Given the description of an element on the screen output the (x, y) to click on. 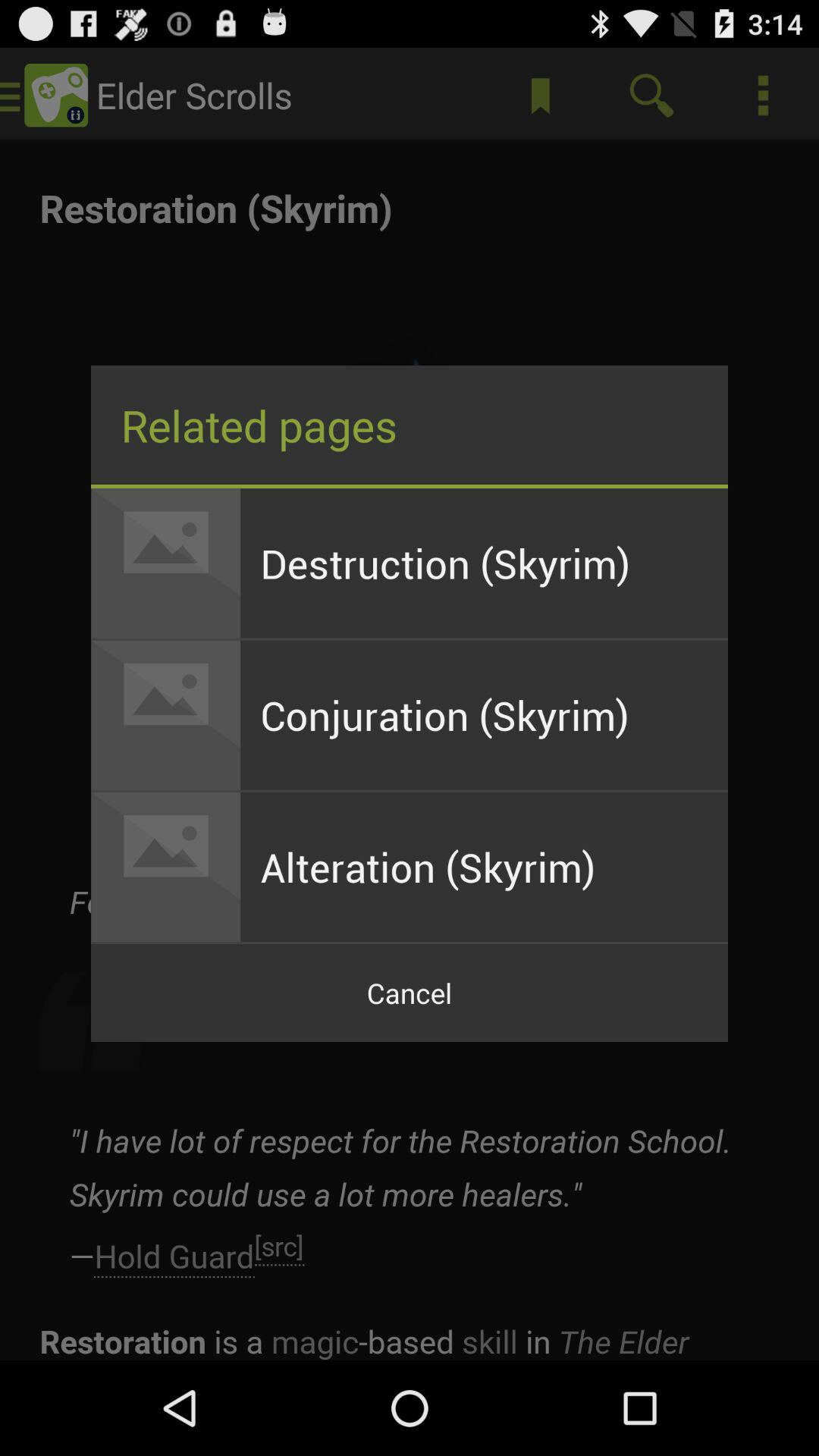
swipe to conjuration (skyrim) app (484, 715)
